Given the description of an element on the screen output the (x, y) to click on. 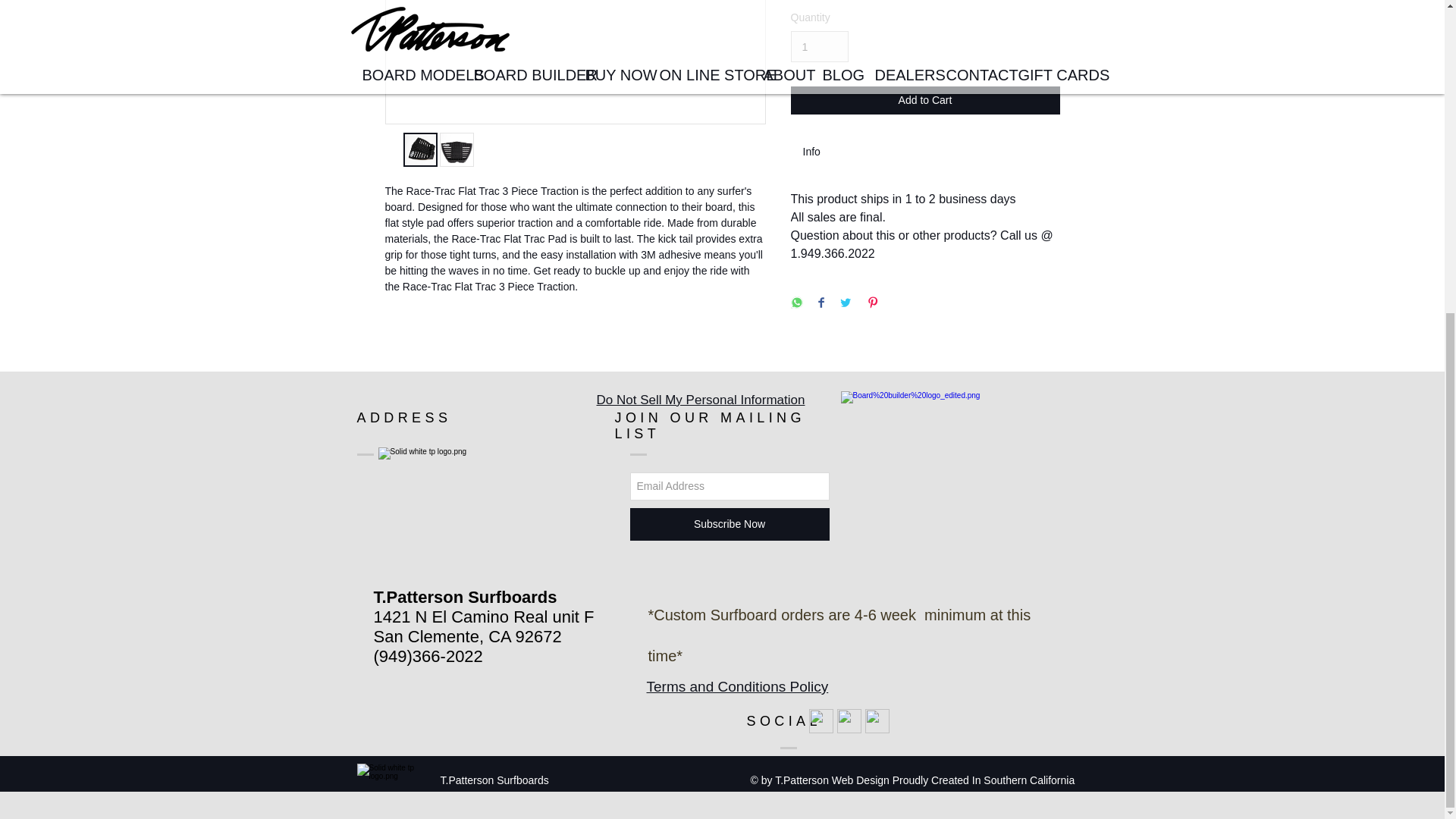
1 (818, 46)
Terms and Conditions Policy (737, 686)
Add to Cart (924, 100)
Subscribe Now (728, 523)
Use right and left arrows to navigate between tabs (818, 152)
Do Not Sell My Personal Information (700, 400)
